Given the description of an element on the screen output the (x, y) to click on. 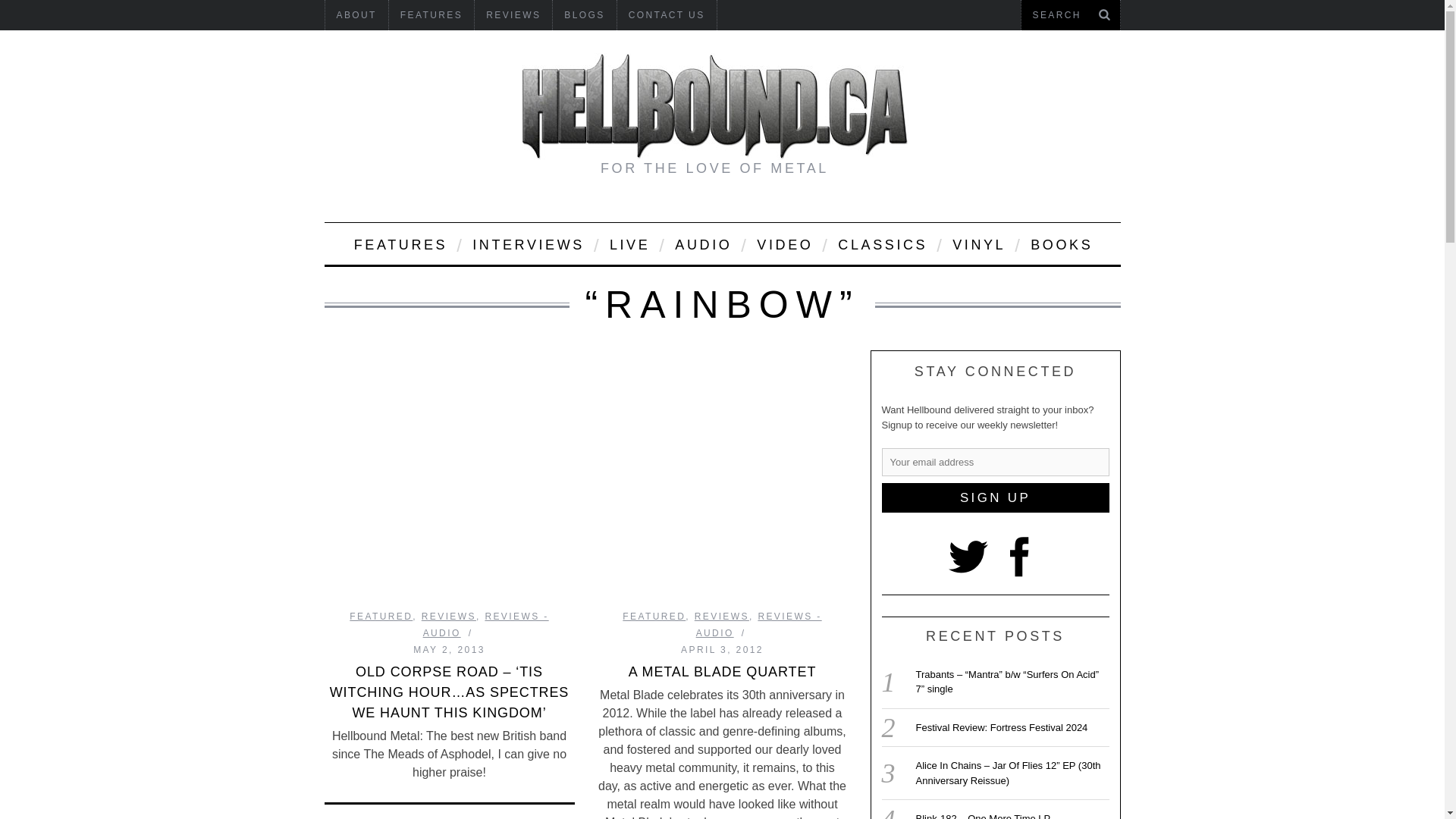
FEATURES (399, 243)
CONTACT US (666, 14)
INTERVIEWS (527, 243)
Hellbound.ca - FOR THE LOVE OF METAL (714, 106)
Search (1070, 15)
FEATURES (431, 14)
BLOGS (584, 14)
REVIEWS (512, 14)
LIVE (628, 243)
Sign up (994, 497)
ABOUT (355, 14)
